Given the description of an element on the screen output the (x, y) to click on. 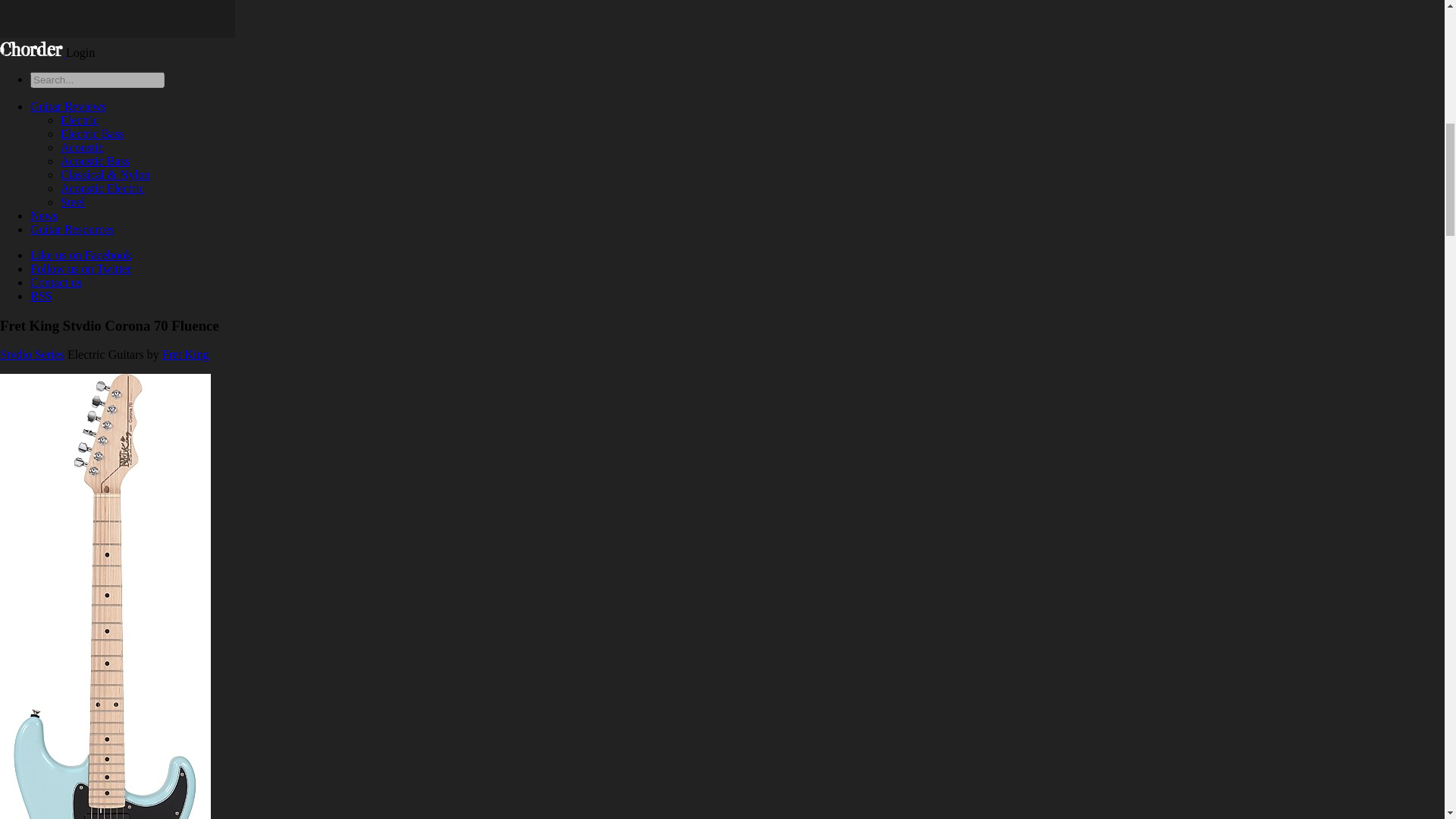
Acoustic Electric (102, 187)
Fret King (185, 354)
Steel (72, 201)
Login (79, 51)
Electric (80, 119)
Stvdio Series (32, 354)
Electric Bass (92, 133)
Acoustic (82, 146)
Acoustic Bass (95, 160)
